Given the description of an element on the screen output the (x, y) to click on. 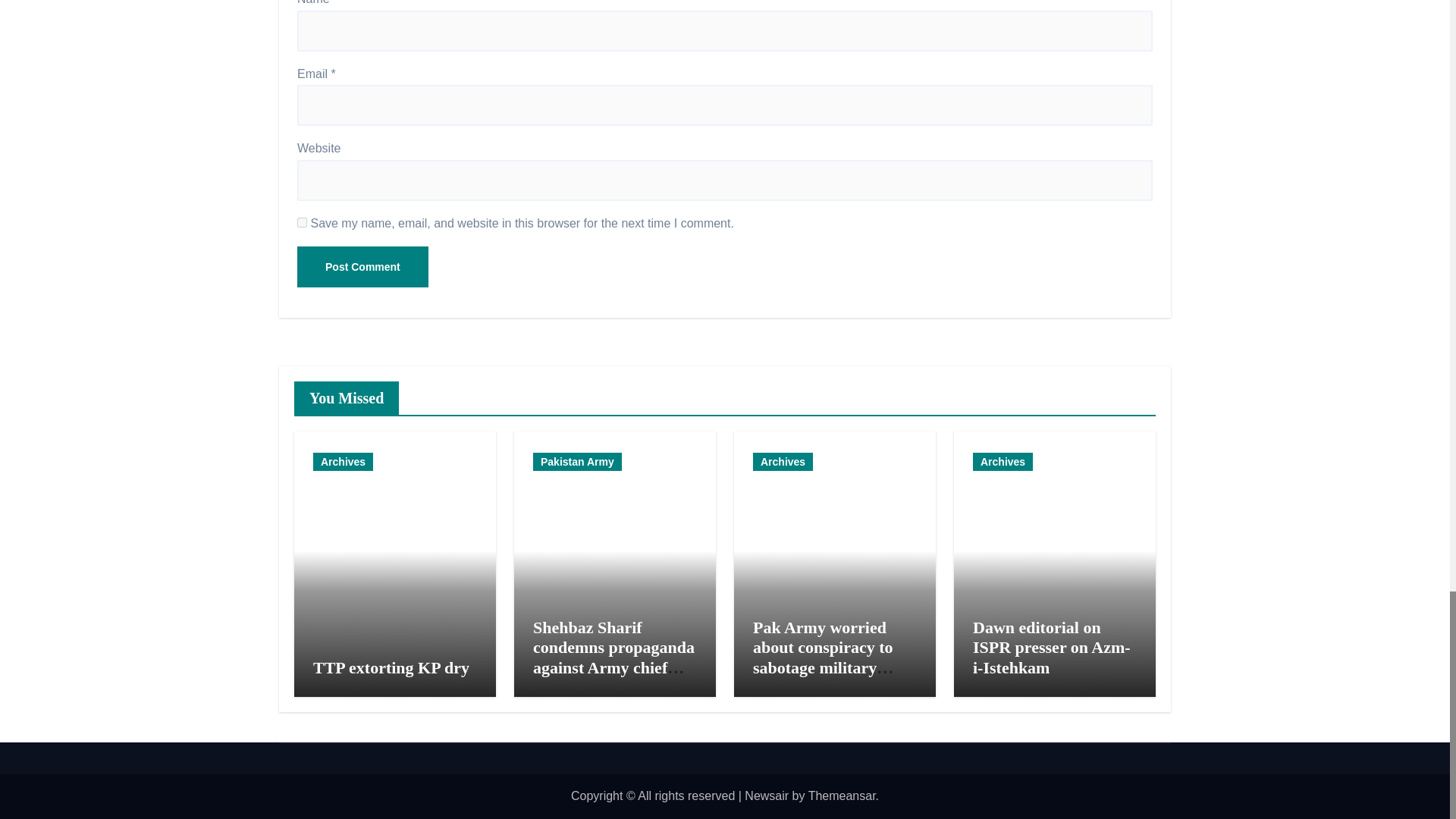
Post Comment (362, 266)
Permalink to: TTP extorting KP dry (390, 667)
yes (302, 222)
